Given the description of an element on the screen output the (x, y) to click on. 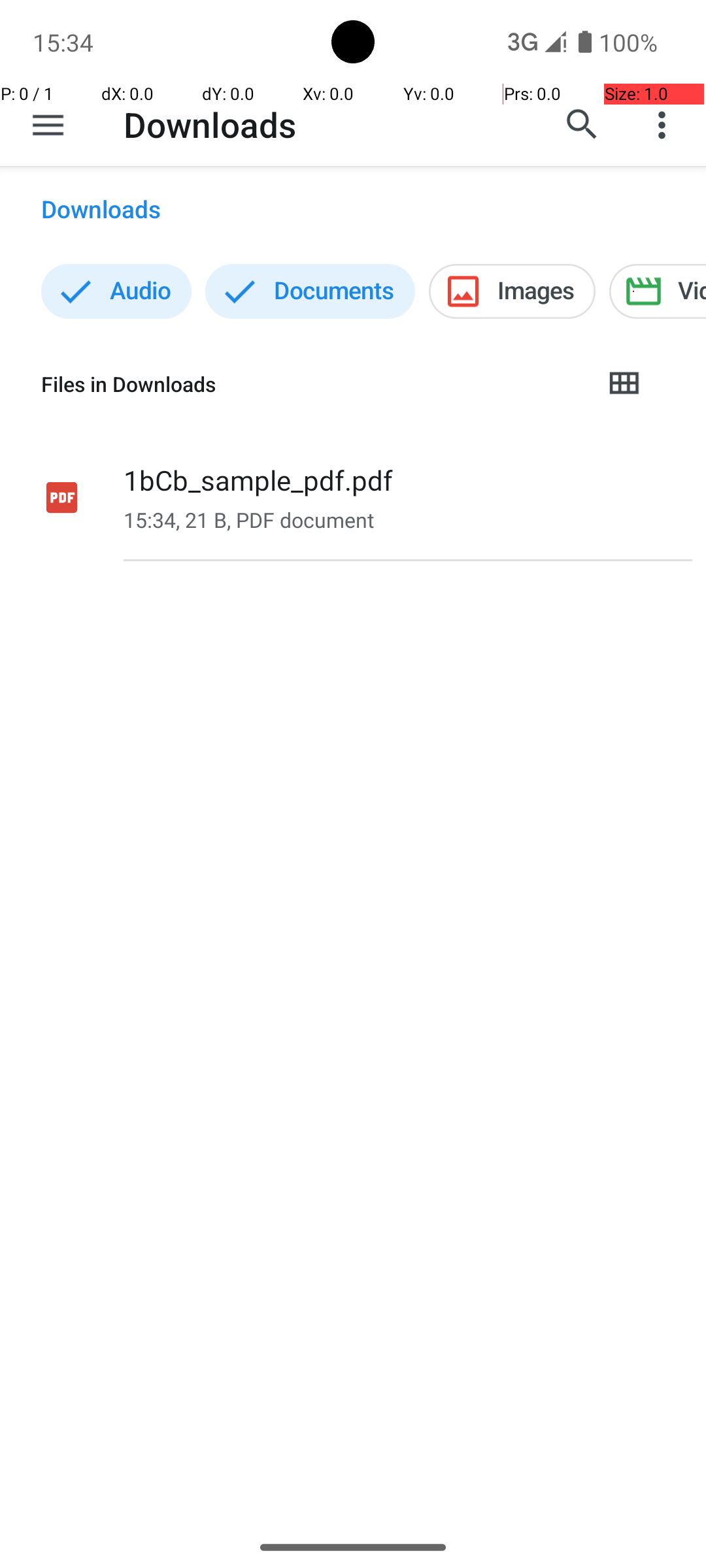
1bCb_sample_pdf.pdf Element type: android.widget.TextView (257, 479)
15:34, 21 B, PDF document Element type: android.widget.TextView (248, 519)
